Given the description of an element on the screen output the (x, y) to click on. 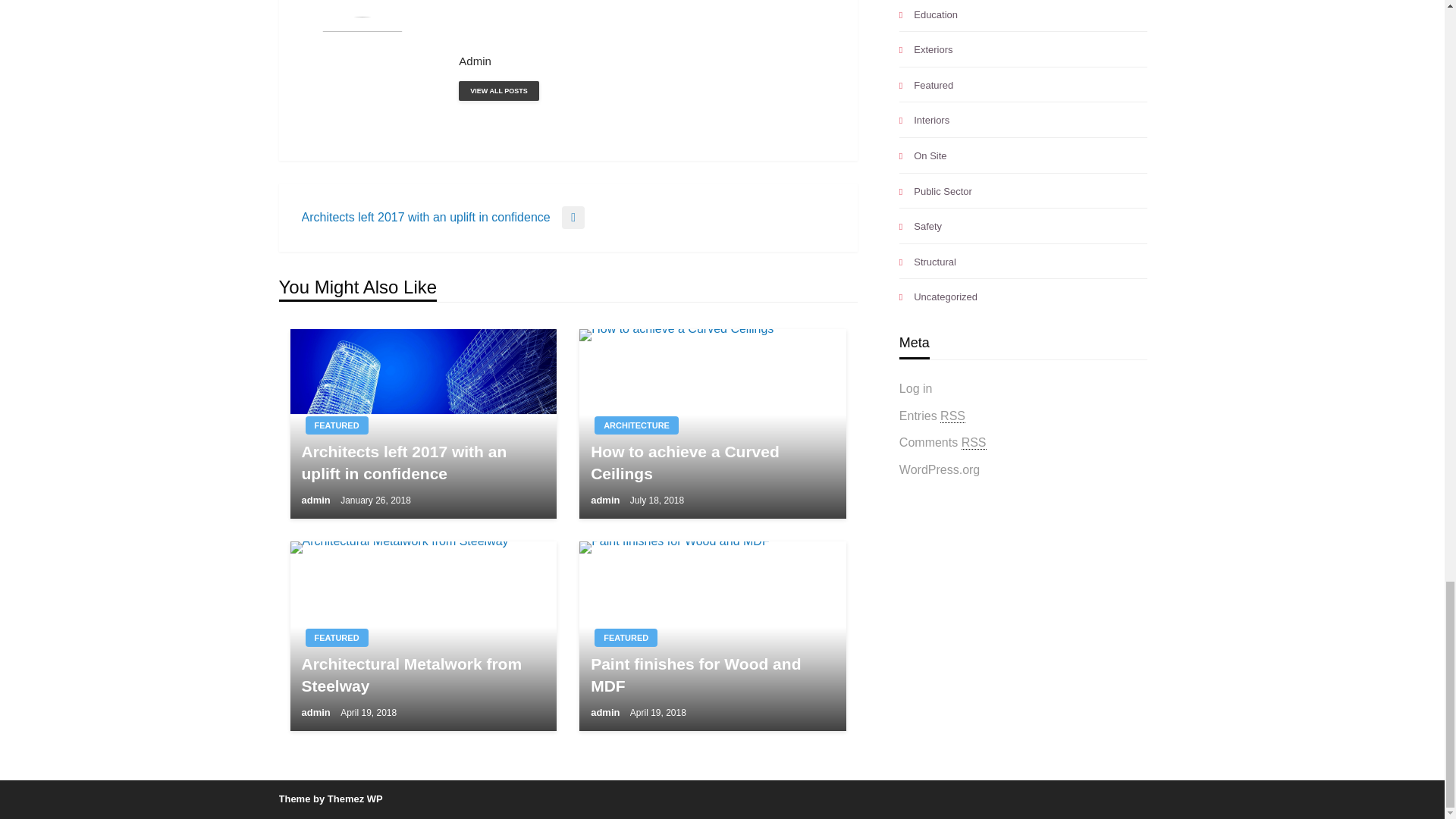
Really Simple Syndication (973, 442)
Architectural Metalwork from Steelway (422, 636)
admin (646, 60)
Paint finishes for Wood and MDF (712, 636)
How to achieve a Curved Ceilings (712, 423)
admin (498, 90)
Really Simple Syndication (952, 415)
Architects left 2017 with an uplift in confidence (422, 423)
